Given the description of an element on the screen output the (x, y) to click on. 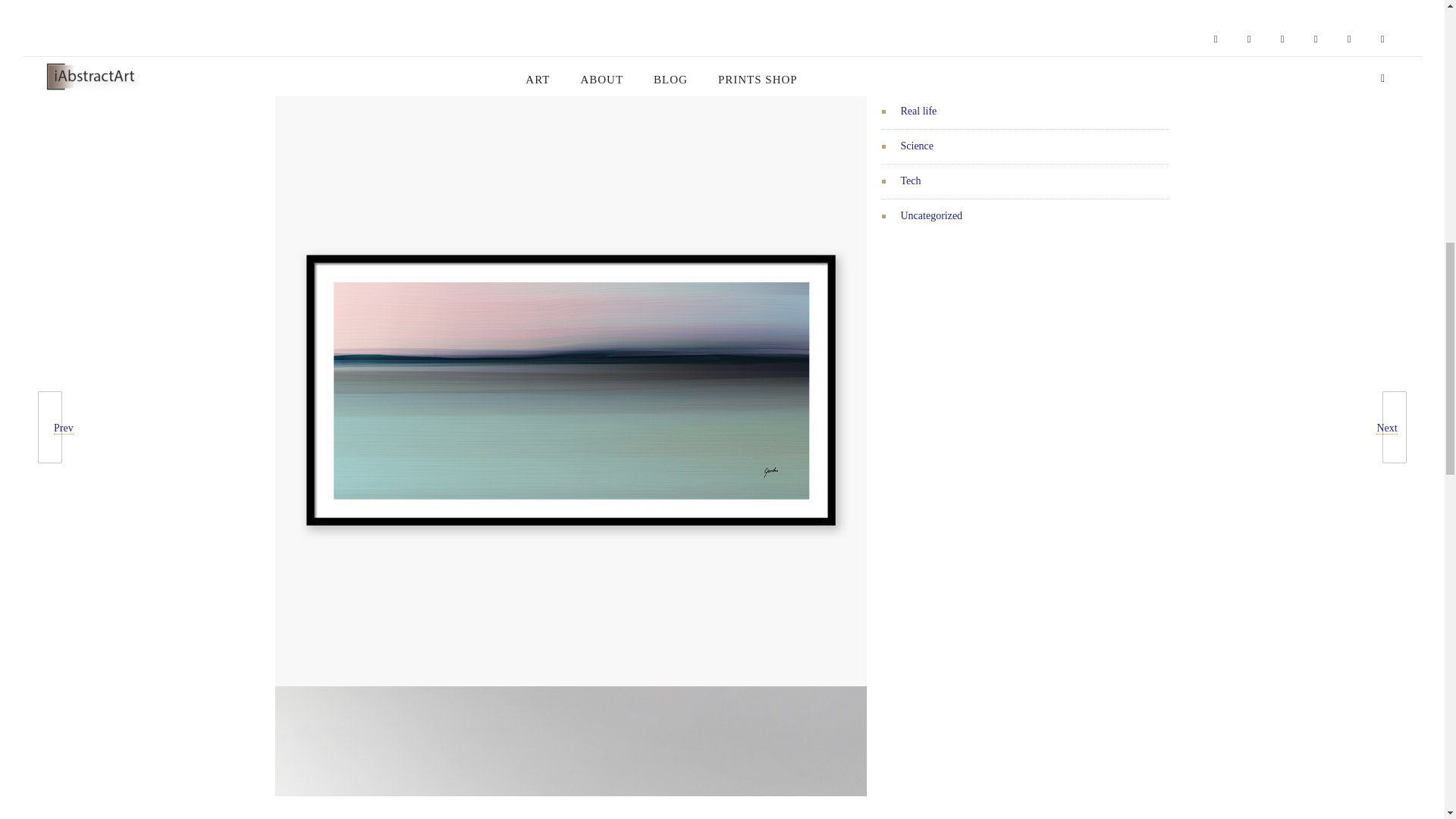
Real life (919, 111)
Science (917, 145)
Business (920, 41)
Uncategorized (931, 215)
Tech (911, 180)
Peaceful Dawn - Abstract Landscape - Interior Preview (570, 752)
Peaceful Dawn - Abstract Canvas Wall Art (570, 47)
Design (916, 75)
